Given the description of an element on the screen output the (x, y) to click on. 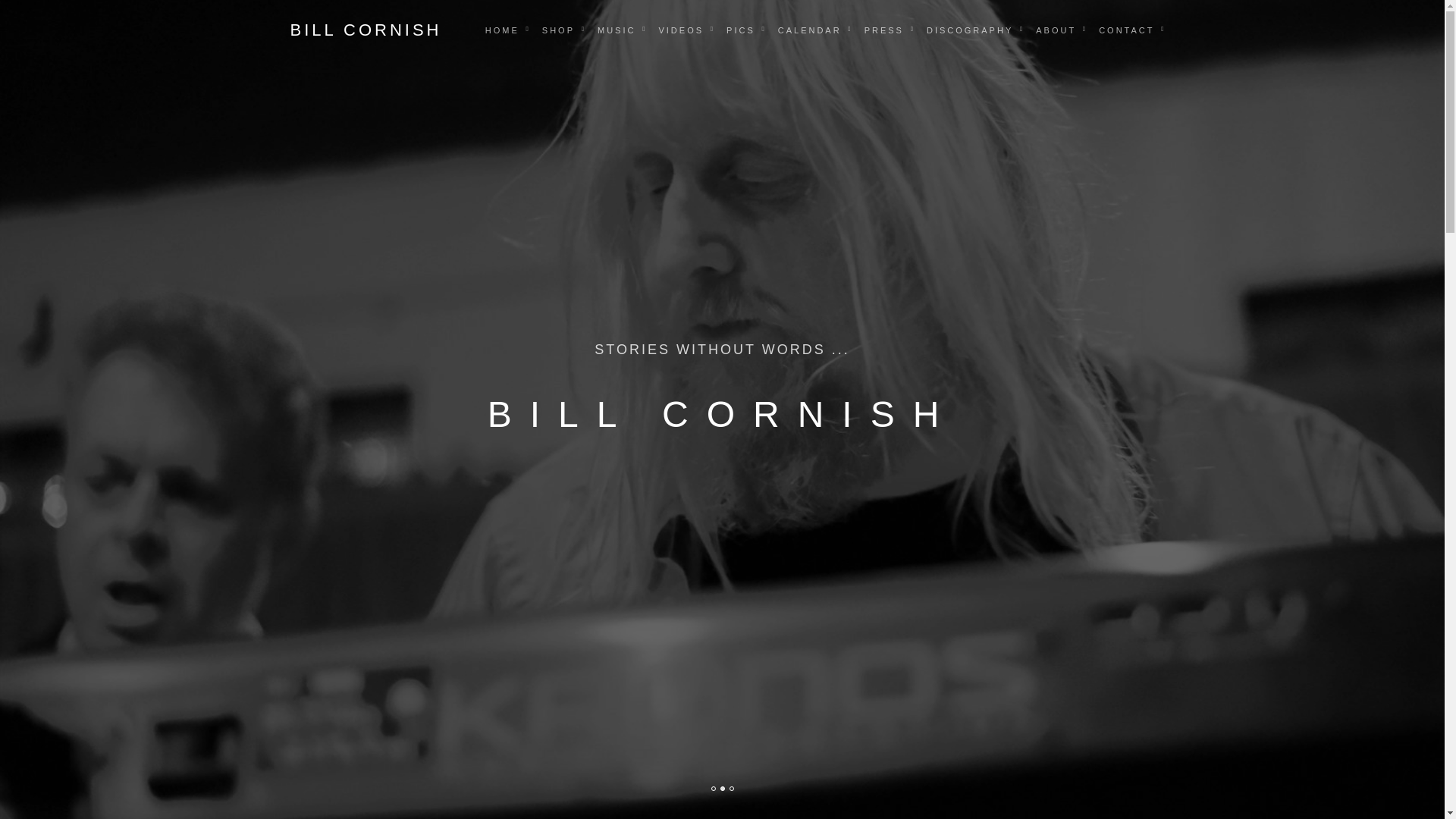
DISCOGRAPHY (970, 30)
CONTACT (1126, 30)
ABOUT (1056, 30)
PICS (740, 30)
CALENDAR (810, 30)
BILL CORNISH (365, 30)
HOME (502, 30)
MUSIC (616, 30)
SHOP (558, 30)
PRESS (884, 30)
VIDEOS (680, 30)
